Given the description of an element on the screen output the (x, y) to click on. 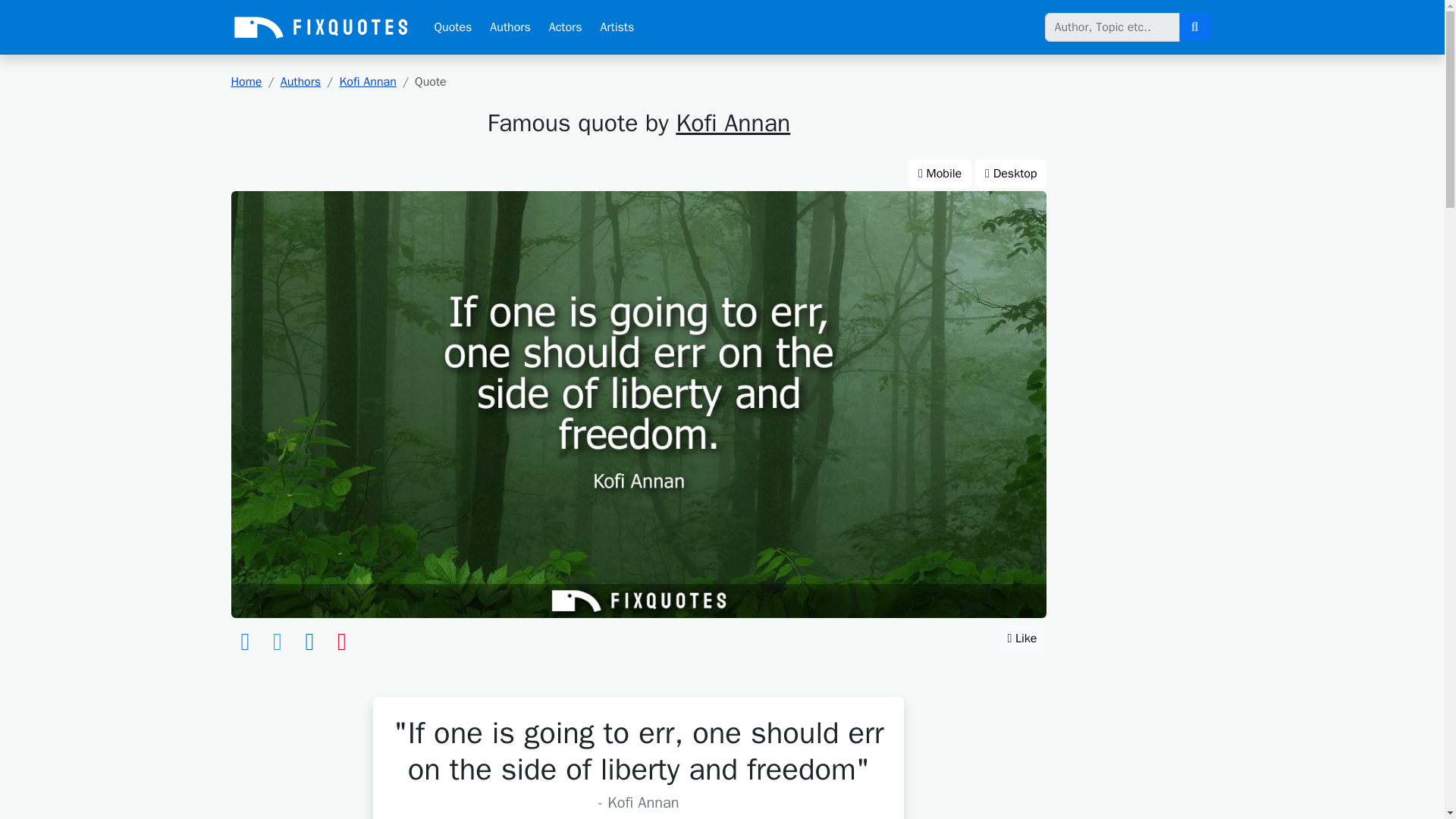
View Desktop version (1010, 173)
Quotes (452, 27)
Authors (509, 27)
Mobile (939, 173)
Artists (617, 27)
Kofi Annan (367, 81)
Authors (300, 81)
Click to search (1193, 26)
View Mobile version (939, 173)
Kofi Annan (732, 122)
